Given the description of an element on the screen output the (x, y) to click on. 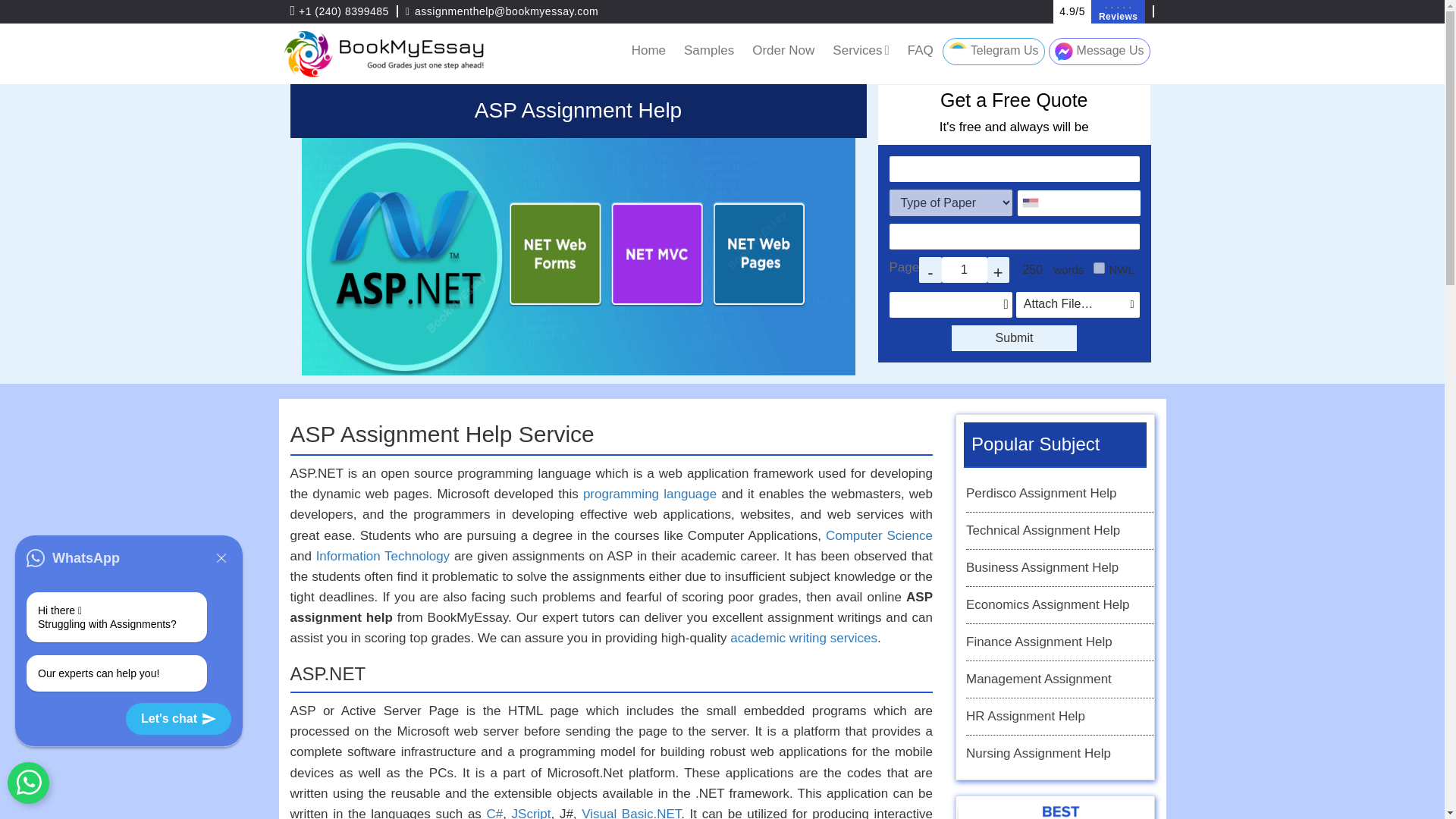
on (1099, 267)
250 (1031, 269)
1 (964, 269)
